Given the description of an element on the screen output the (x, y) to click on. 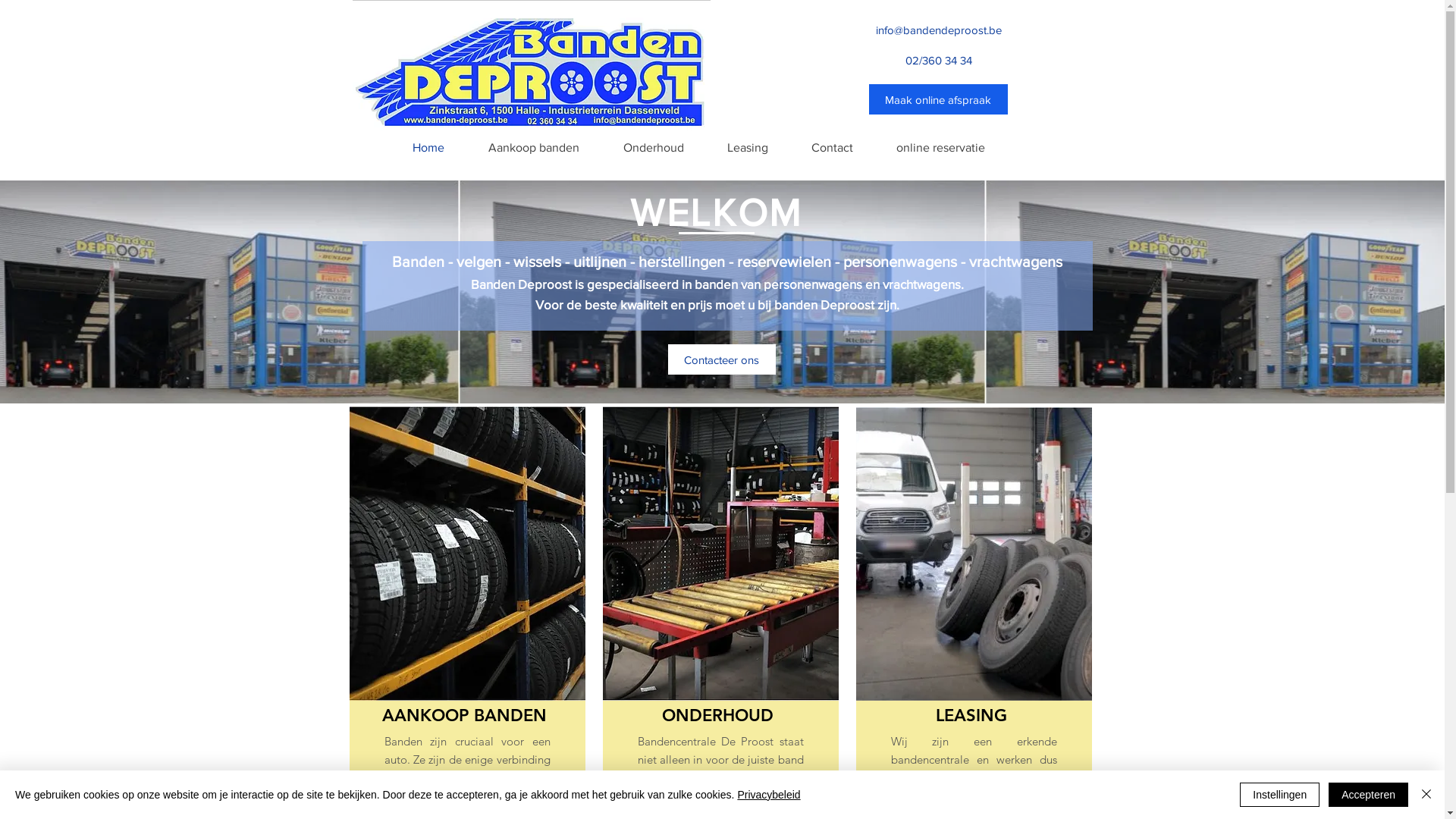
info@bandendeproost.be Element type: text (938, 29)
Privacybeleid Element type: text (768, 794)
Accepteren Element type: text (1368, 794)
Leasing Element type: text (747, 147)
Onderhoud Element type: text (652, 147)
Contacteer ons Element type: text (721, 359)
online reservatie Element type: text (941, 147)
Aankoop banden Element type: text (532, 147)
Contact Element type: text (832, 147)
Instellingen Element type: text (1279, 794)
Maak online afspraak Element type: text (938, 99)
Home Element type: text (427, 147)
02/360 34 34 Element type: text (938, 59)
